Given the description of an element on the screen output the (x, y) to click on. 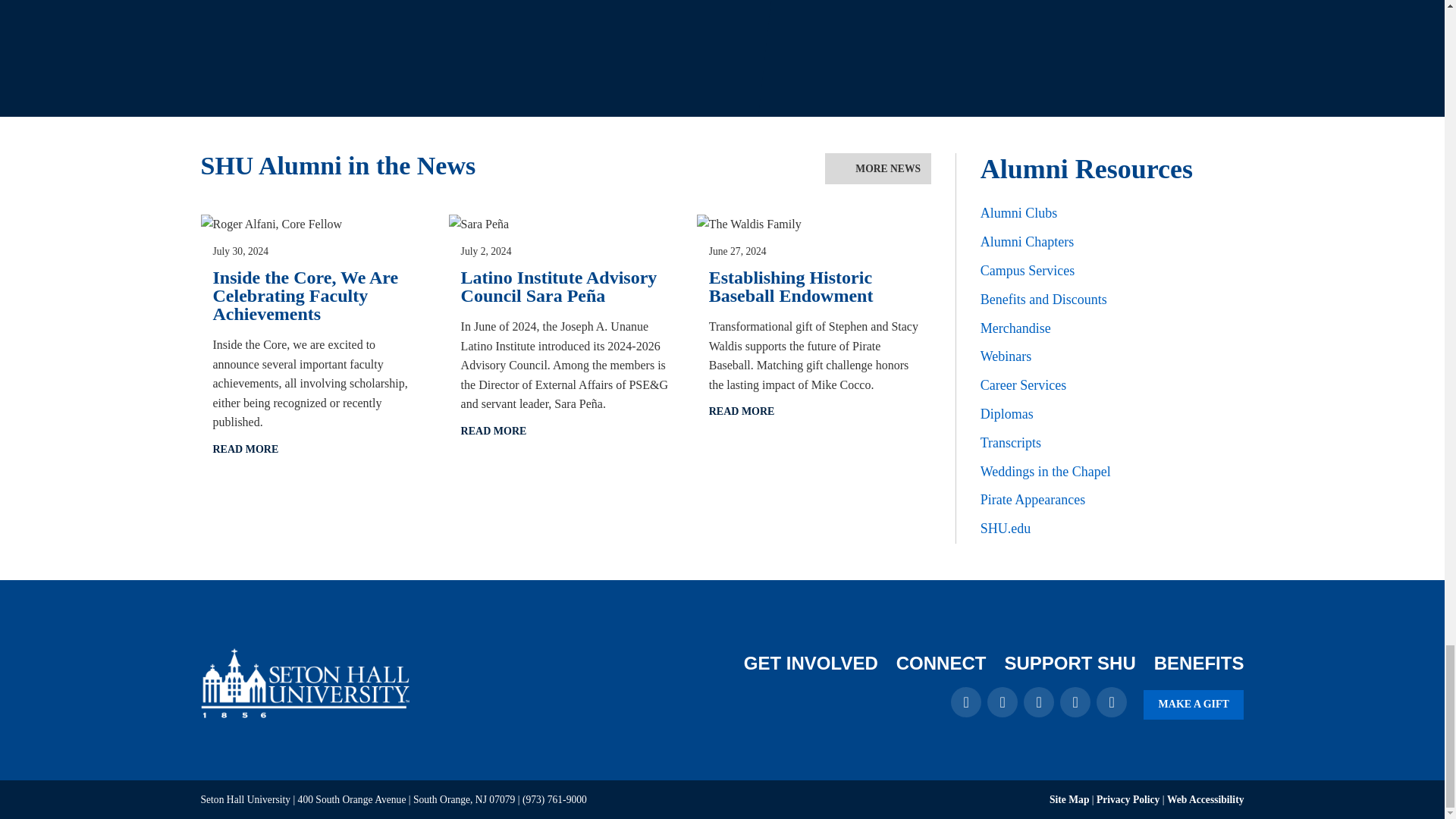
Read more about Establishing Historic Baseball Endowment (741, 410)
Alumni Chapters (1111, 242)
Alumni Clubs (1111, 213)
Seton Hall Law Logo (304, 683)
